Given the description of an element on the screen output the (x, y) to click on. 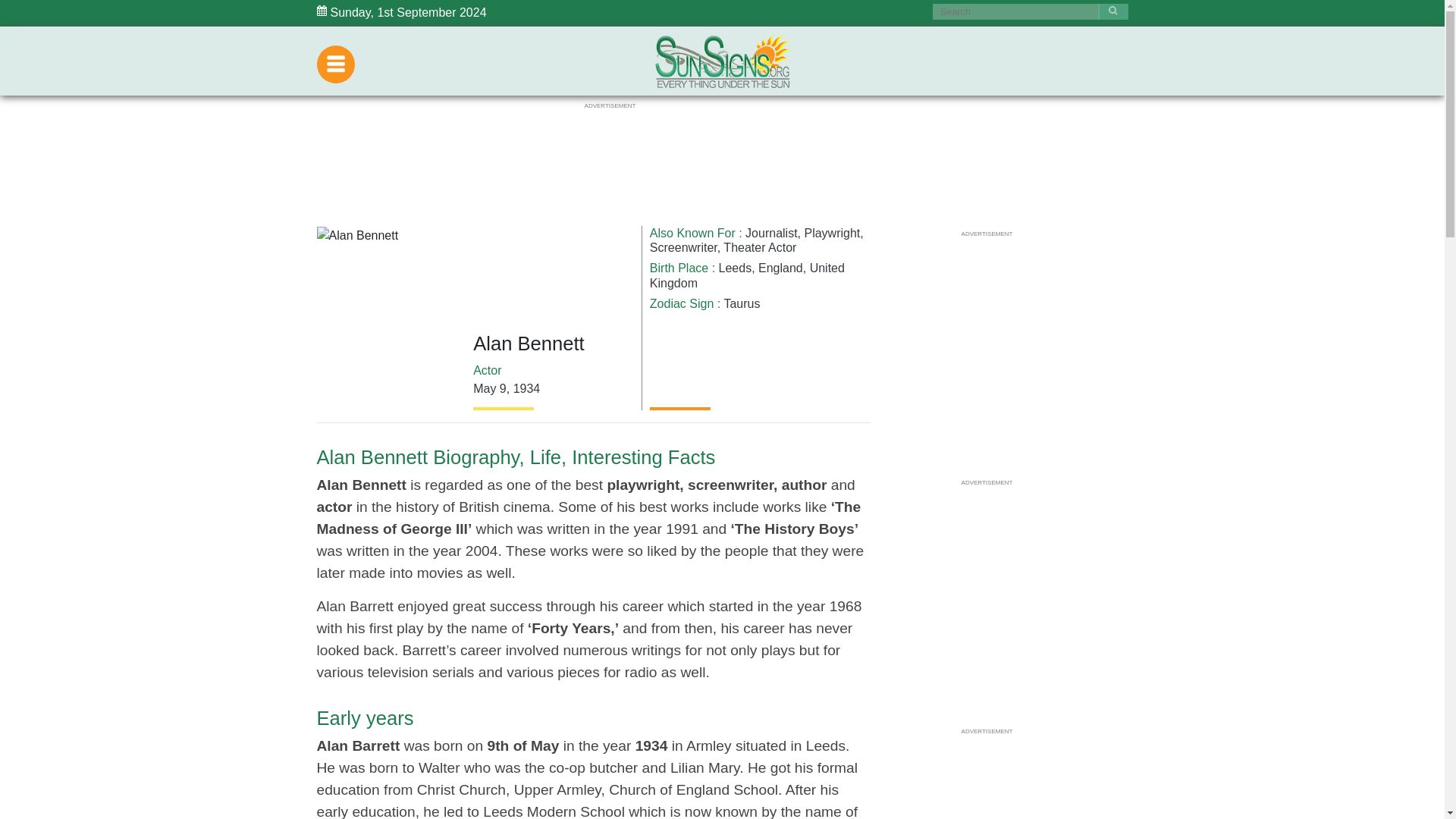
United Kingdom (746, 275)
Taurus (741, 303)
England (780, 267)
Screenwriter (683, 246)
May 9 (489, 388)
Zodiac Sign (681, 303)
Actor (486, 369)
Leeds (735, 267)
Journalist (770, 232)
Theater Actor (759, 246)
